Given the description of an element on the screen output the (x, y) to click on. 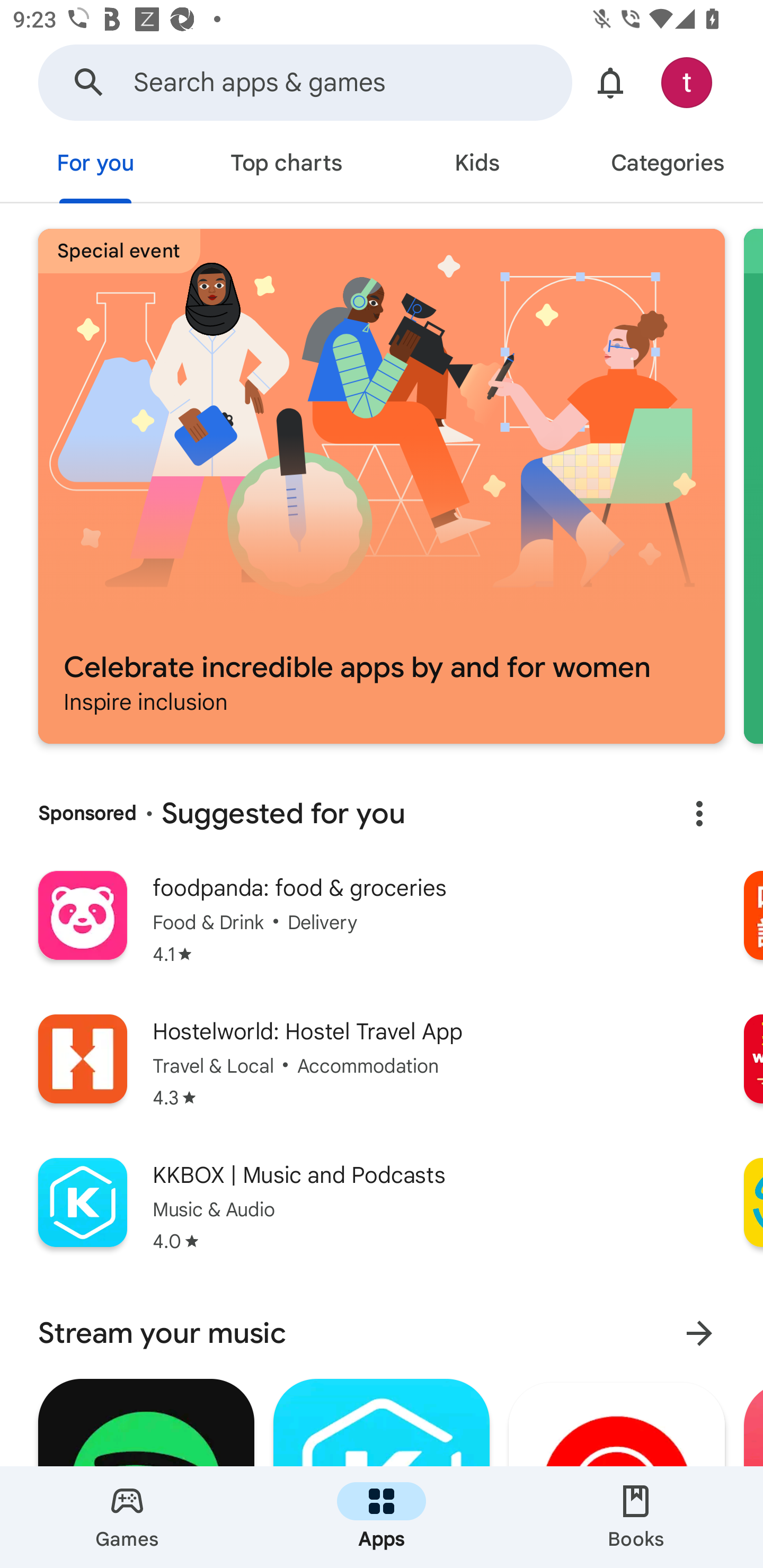
Search Google Play Search apps & games (305, 81)
Search Google Play (89, 81)
Show notifications and offers. (610, 81)
Top charts (285, 165)
Kids (476, 165)
Categories (667, 165)
About this ad (699, 813)
More results for Stream your music (699, 1333)
Games (127, 1517)
Books (635, 1517)
